Given the description of an element on the screen output the (x, y) to click on. 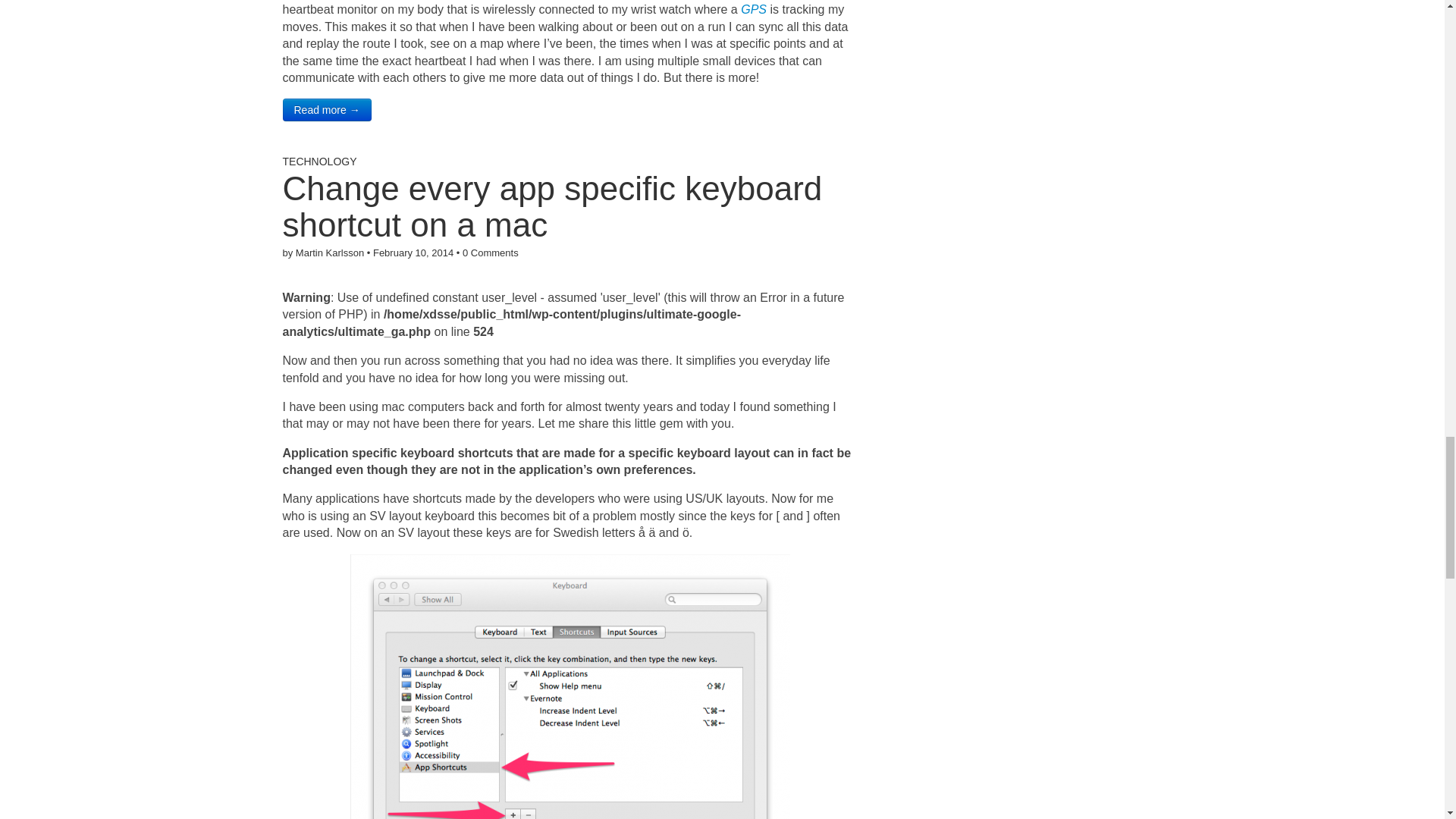
Change every app specific keyboard shortcut on a mac (552, 206)
Posts by Martin Karlsson (329, 252)
